Given the description of an element on the screen output the (x, y) to click on. 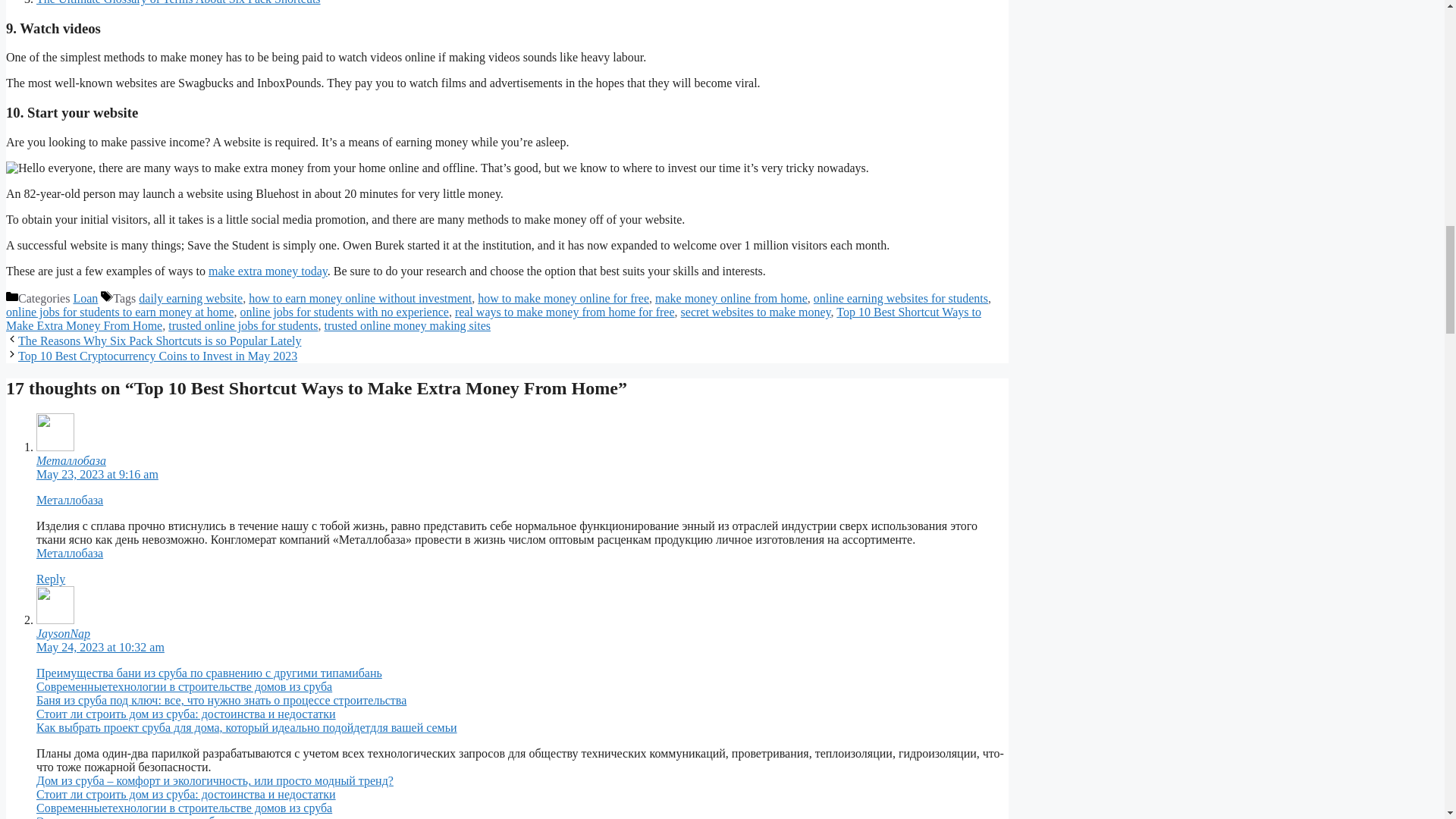
make money online from home (731, 297)
how to earn money online without investment (359, 297)
trusted online money making sites (408, 325)
online jobs for students to earn money at home (118, 311)
how to make money online for free (563, 297)
online earning websites for students (900, 297)
Top 10 Best Shortcut Ways to Make Extra Money From Home (493, 318)
secret websites to make money (756, 311)
online jobs for students with no experience (344, 311)
real ways to make money from home for free (564, 311)
